Given the description of an element on the screen output the (x, y) to click on. 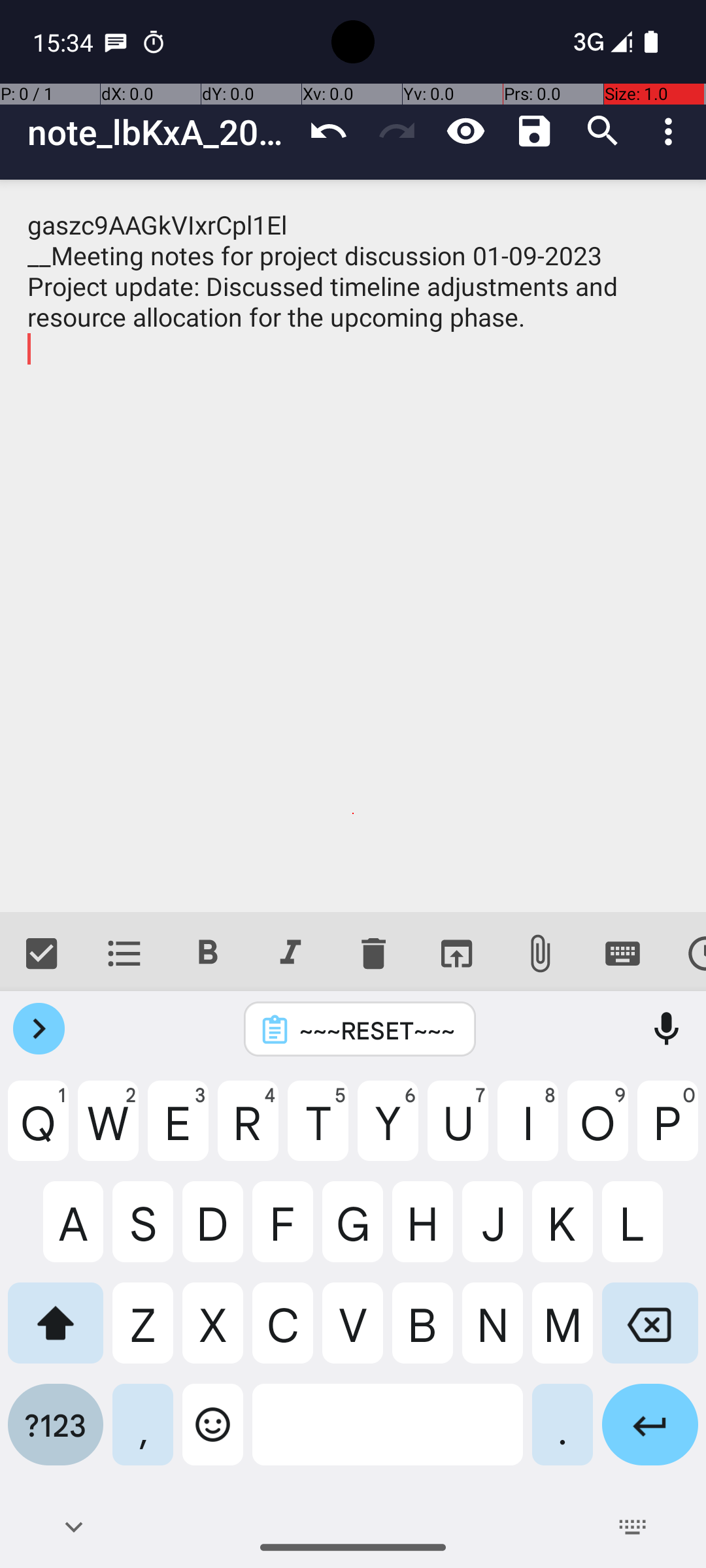
note_lbKxA_2023_01_09 Element type: android.widget.TextView (160, 131)
gaszc9AAGkVIxrCpl1El
__Meeting notes for project discussion 01-09-2023
Project update: Discussed timeline adjustments and resource allocation for the upcoming phase.
 Element type: android.widget.EditText (353, 545)
